Given the description of an element on the screen output the (x, y) to click on. 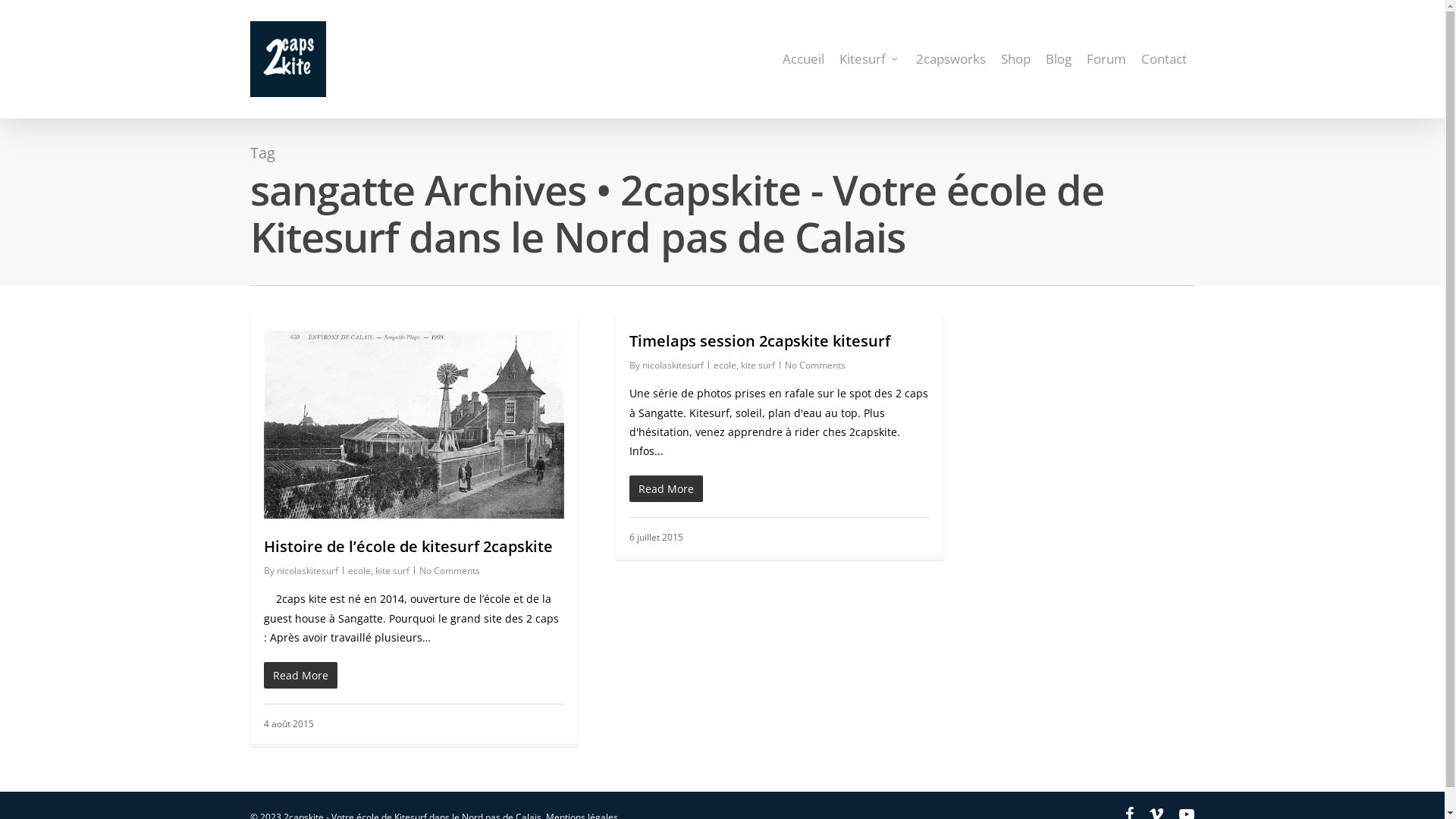
Forum Element type: text (1106, 59)
Accueil Element type: text (803, 59)
Blog Element type: text (1058, 59)
ecole Element type: text (359, 570)
Timelaps session 2capskite kitesurf Element type: text (759, 340)
Shop Element type: text (1015, 59)
2capsworks Element type: text (950, 59)
Read More Element type: text (413, 674)
nicolaskitesurf Element type: text (672, 364)
No Comments Element type: text (449, 570)
No Comments Element type: text (814, 364)
Read More Element type: text (779, 488)
kite surf Element type: text (757, 364)
Kitesurf Element type: text (869, 59)
Contact Element type: text (1163, 59)
ecole Element type: text (724, 364)
kite surf Element type: text (392, 570)
nicolaskitesurf Element type: text (307, 570)
